Given the description of an element on the screen output the (x, y) to click on. 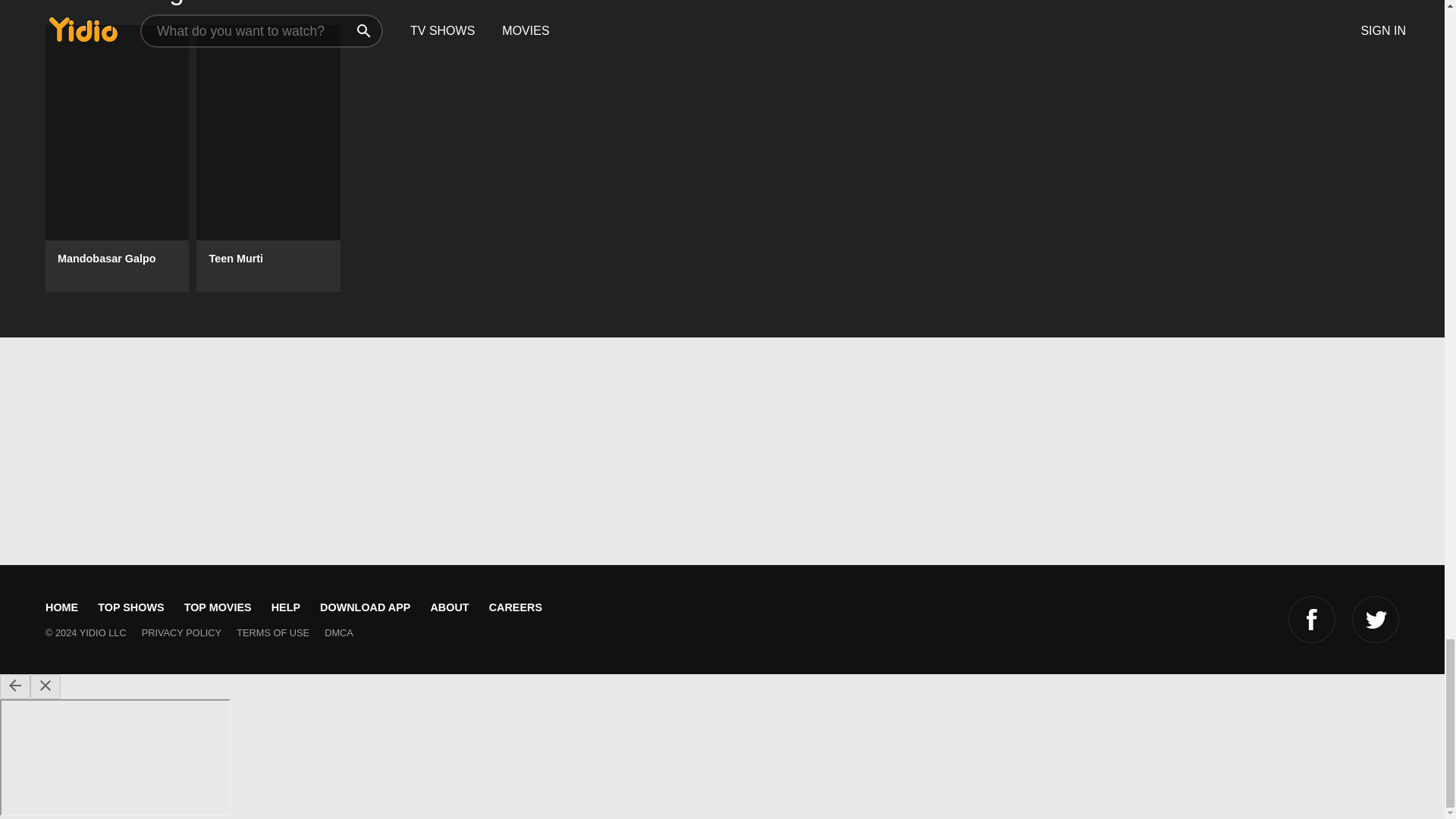
Twitter (1375, 619)
Facebook (1311, 619)
